Given the description of an element on the screen output the (x, y) to click on. 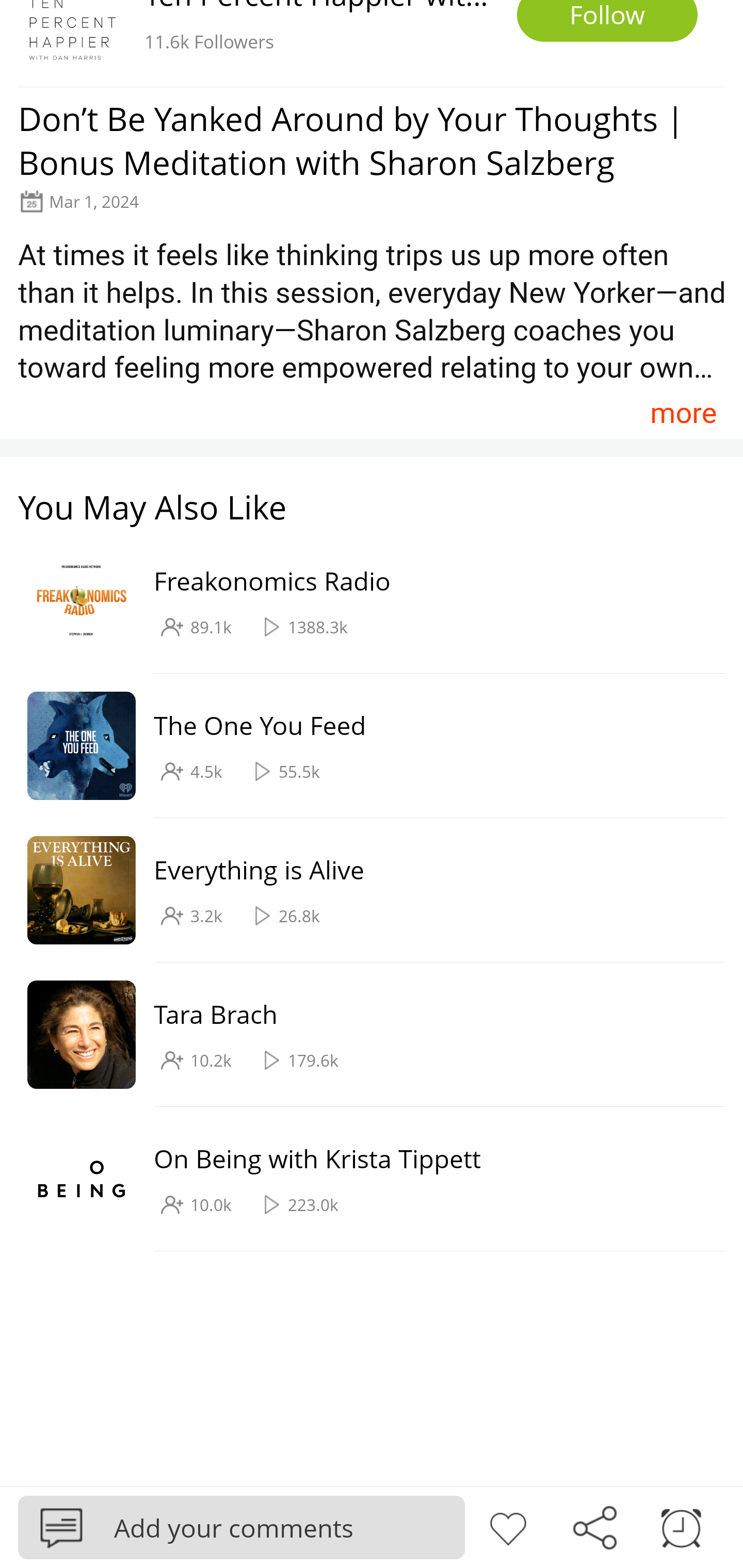
Follow (607, 21)
more (682, 412)
Freakonomics Radio 89.1k 1388.3k (362, 601)
The One You Feed 4.5k 55.5k (362, 746)
Everything is Alive 3.2k 26.8k (362, 890)
Tara Brach 10.2k 179.6k (362, 1034)
On Being with Krista Tippett 10.0k 223.0k (362, 1179)
Like (508, 1526)
Share (594, 1526)
Sleep timer (681, 1526)
Podbean Add your comments (241, 1526)
